Given the description of an element on the screen output the (x, y) to click on. 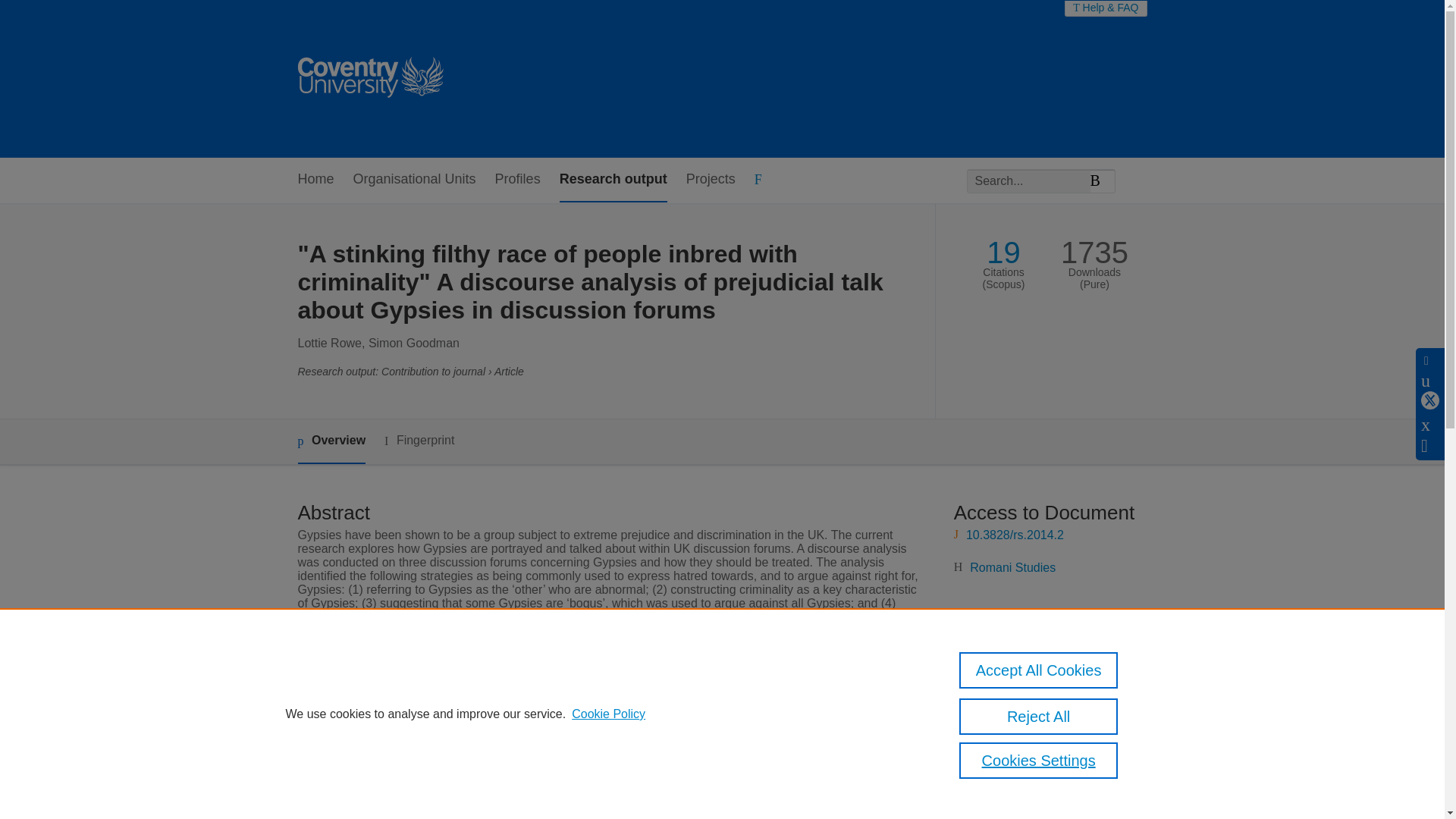
Projects (710, 180)
Overview (331, 441)
Romani Studies (1012, 567)
Organisational Units (414, 180)
Coventry University Home (369, 78)
Profiles (517, 180)
Fingerprint (419, 440)
Romani Studies (553, 717)
19 (1003, 252)
Research output (612, 180)
